Given the description of an element on the screen output the (x, y) to click on. 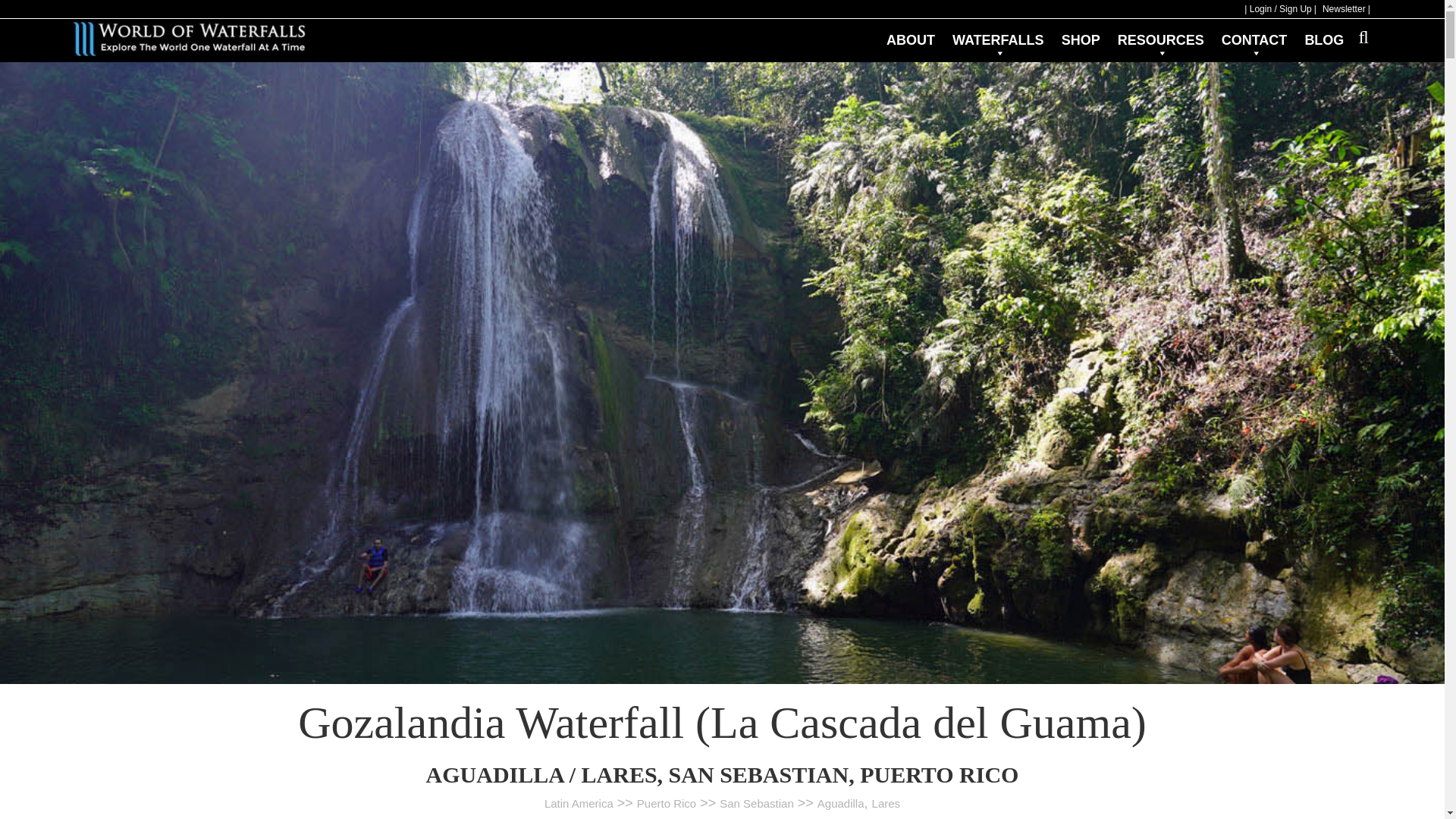
CONTACT (1254, 38)
WATERFALLS (997, 38)
RESOURCES (1160, 38)
World of Waterfalls (188, 39)
SHOP (1080, 32)
Find Waterfalls on the World of Waterfalls (997, 38)
Newsletter (1347, 9)
ABOUT (910, 32)
About Us at the World of Waterfalls (910, 32)
